Given the description of an element on the screen output the (x, y) to click on. 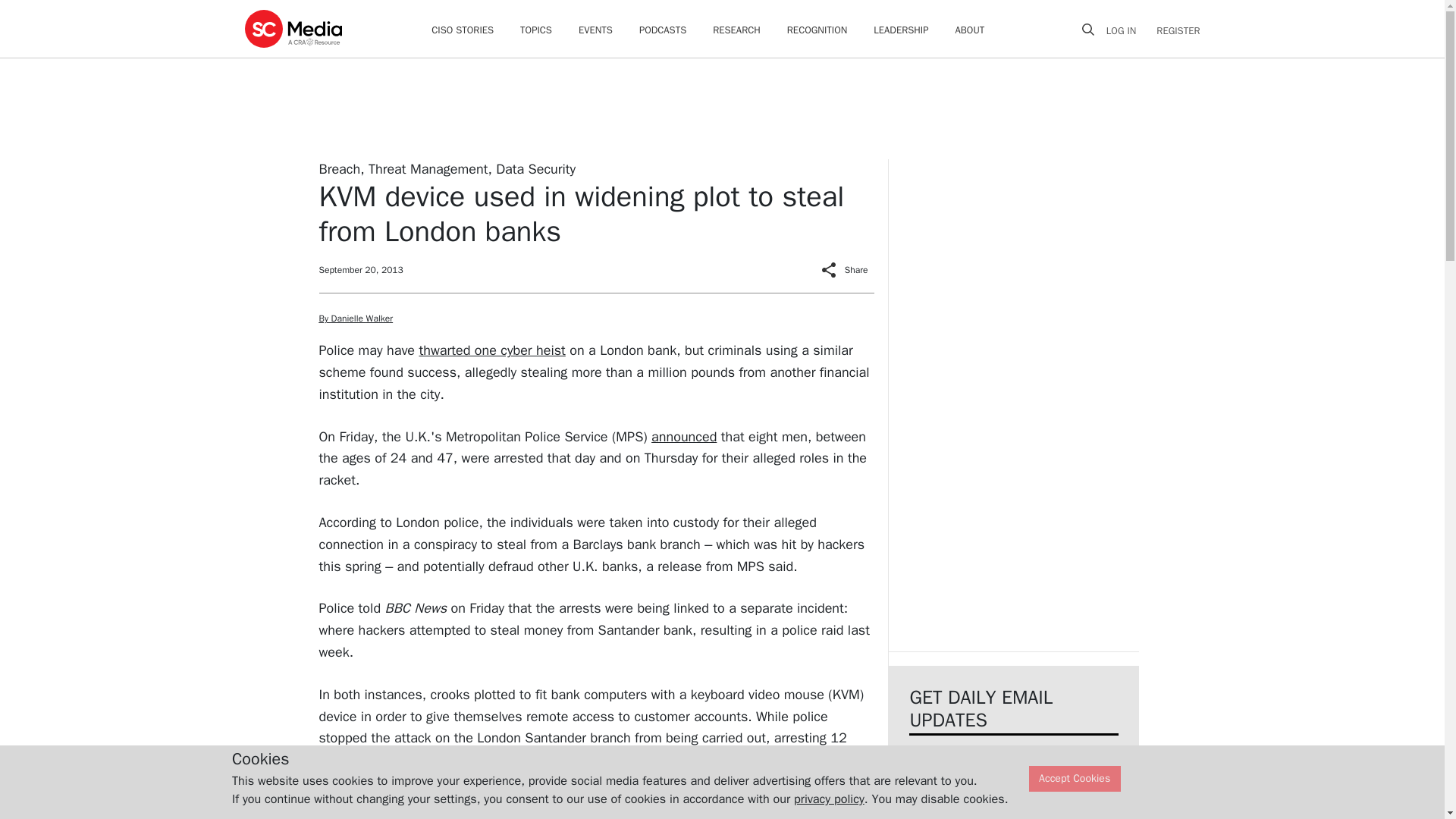
RECOGNITION (817, 30)
Data Security (535, 168)
Breach (338, 168)
TOPICS (535, 30)
By Danielle Walker (355, 318)
CISO STORIES (461, 30)
EVENTS (595, 30)
RESEARCH (736, 30)
Threat Management (427, 168)
LEADERSHIP (900, 30)
announced (683, 436)
REGISTER (1173, 30)
PODCASTS (662, 30)
thwarted one cyber heist (491, 350)
LOG IN (1126, 30)
